Given the description of an element on the screen output the (x, y) to click on. 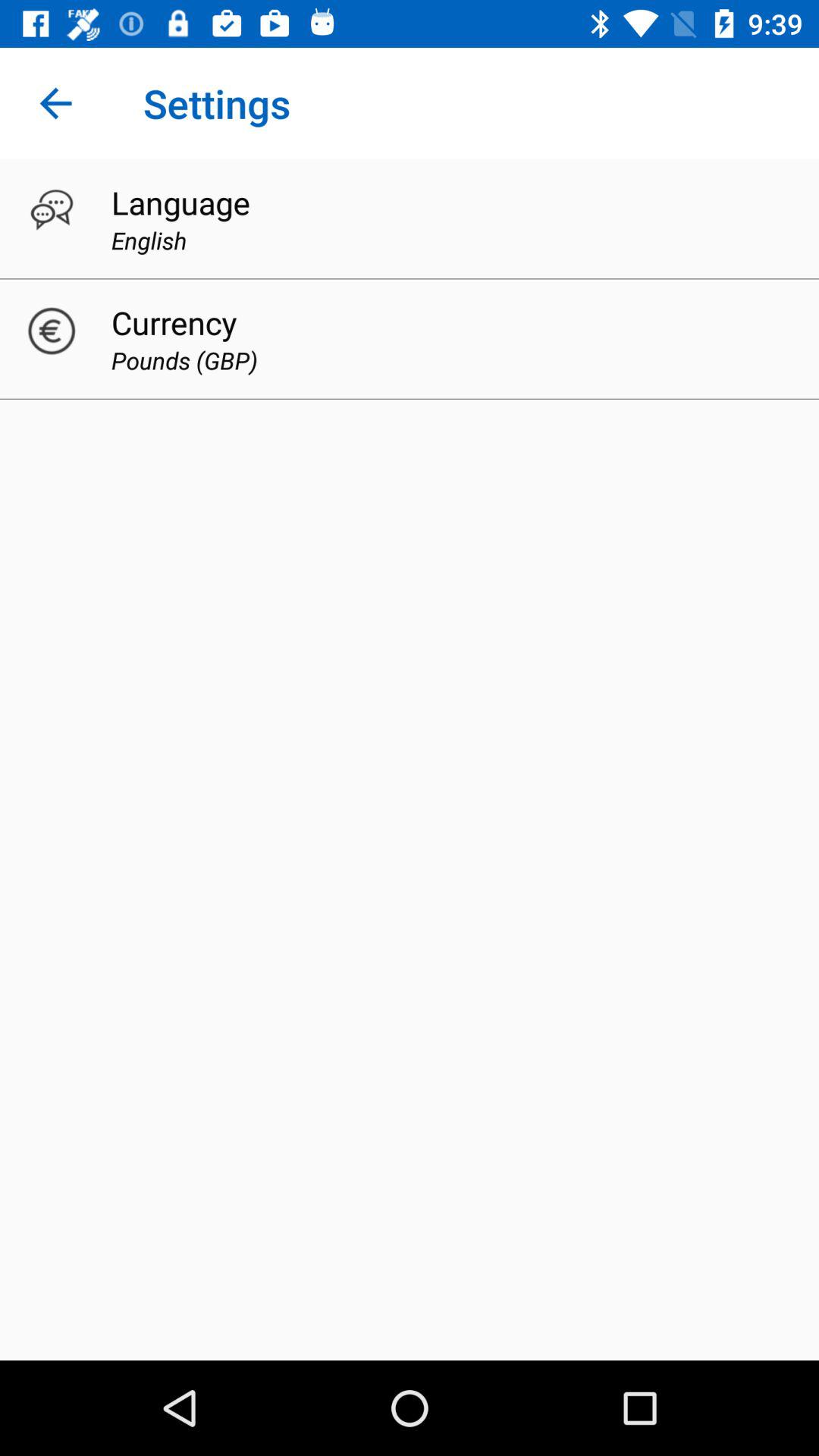
launch icon below english (174, 322)
